Given the description of an element on the screen output the (x, y) to click on. 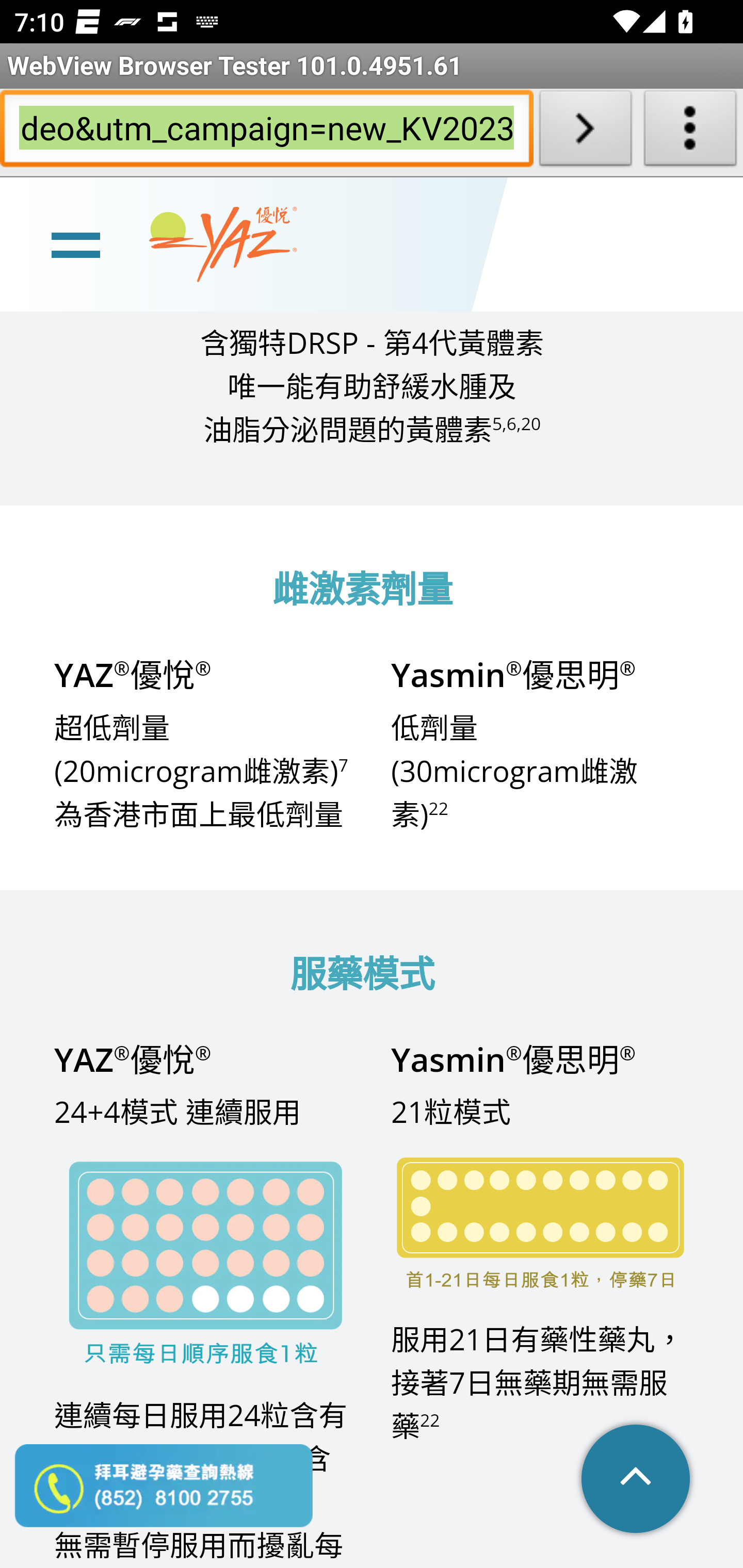
Load URL (585, 132)
About WebView (690, 132)
www.yaz (222, 244)
line Toggle burger menu (75, 245)
 (636, 1480)
